Given the description of an element on the screen output the (x, y) to click on. 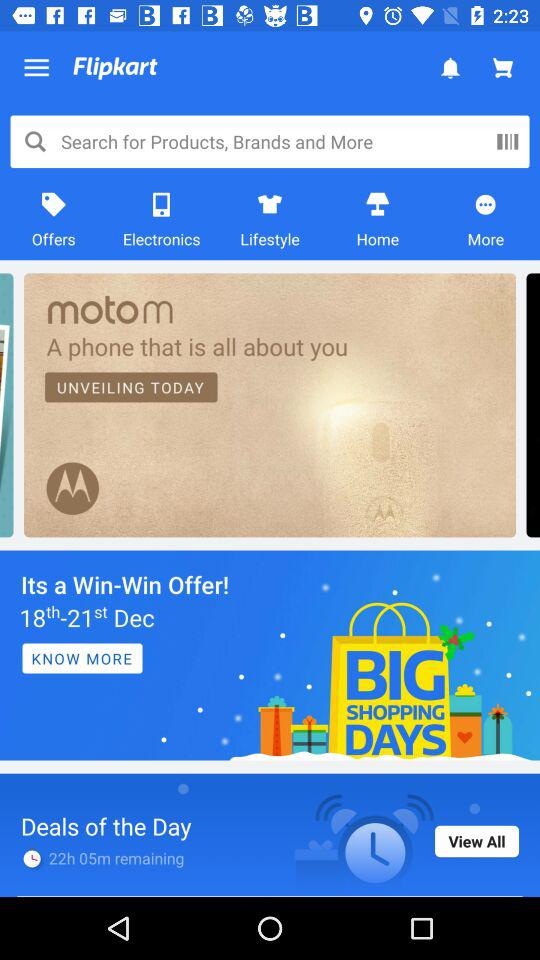
search product (507, 141)
